Given the description of an element on the screen output the (x, y) to click on. 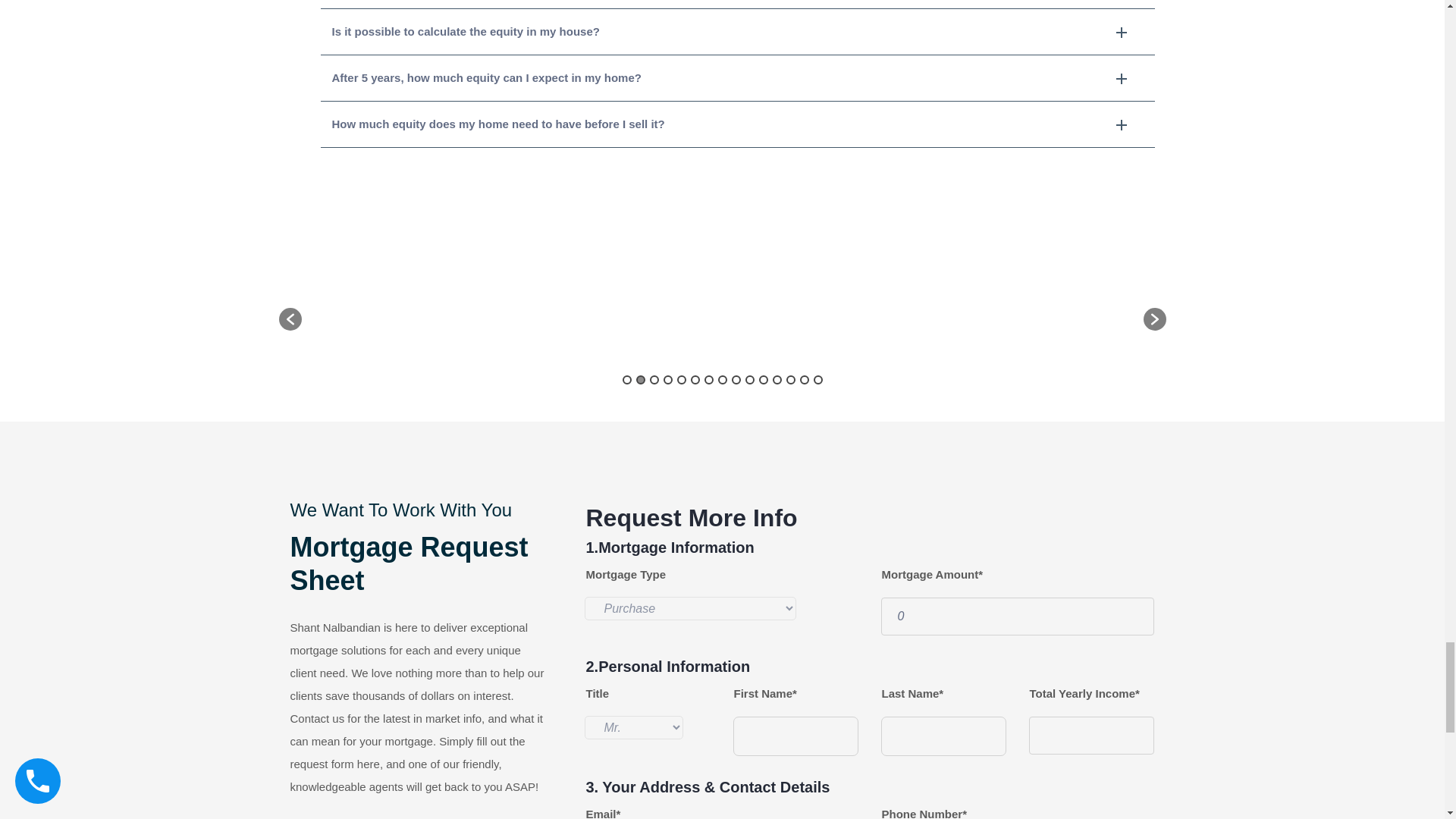
0 (1017, 616)
